Given the description of an element on the screen output the (x, y) to click on. 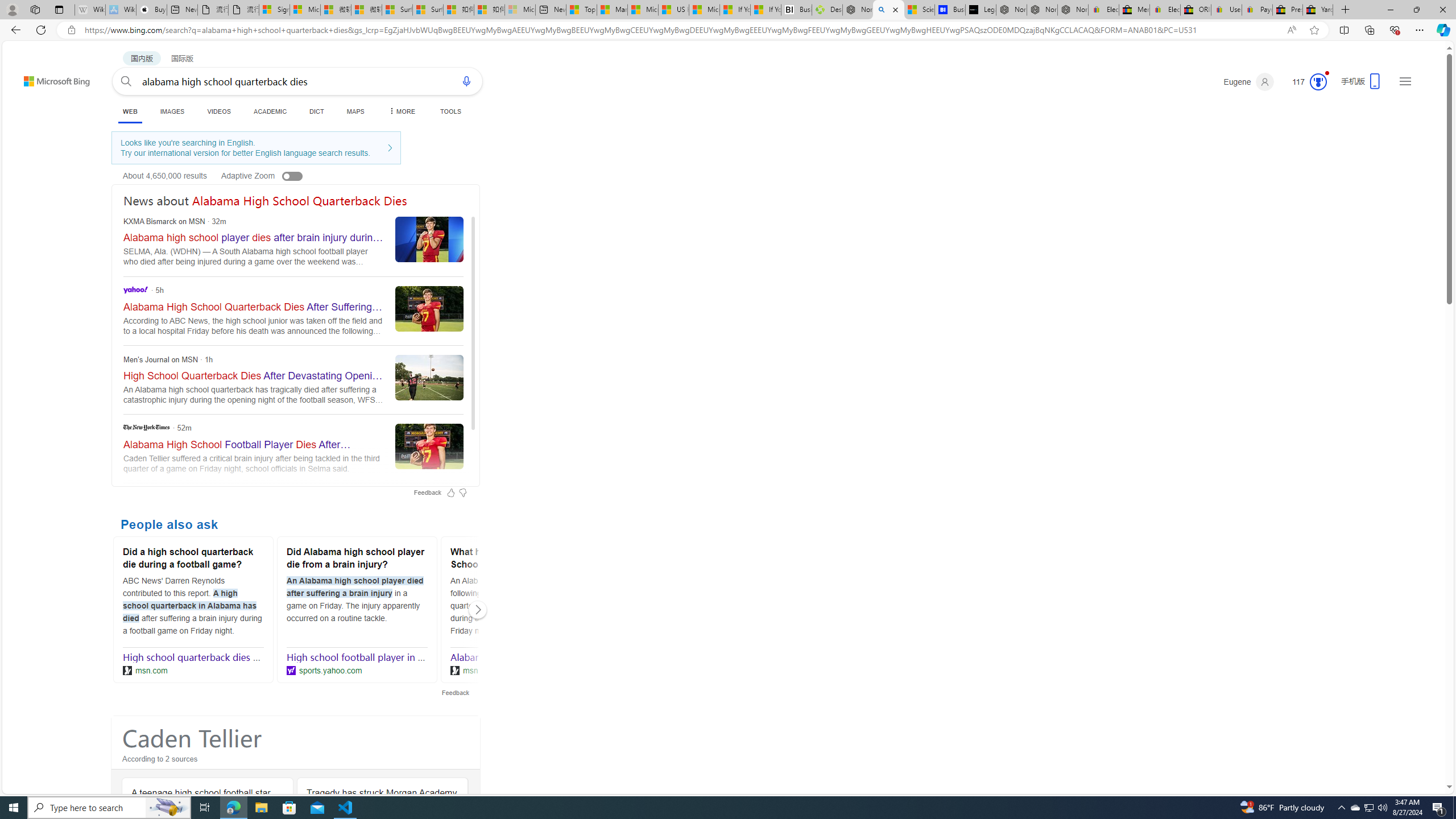
Class: outer-circle-animation (1317, 81)
Microsoft Rewards 93 (1305, 81)
TOOLS (450, 111)
US Heat Deaths Soared To Record High Last Year (673, 9)
Back to Bing search (50, 78)
